Given the description of an element on the screen output the (x, y) to click on. 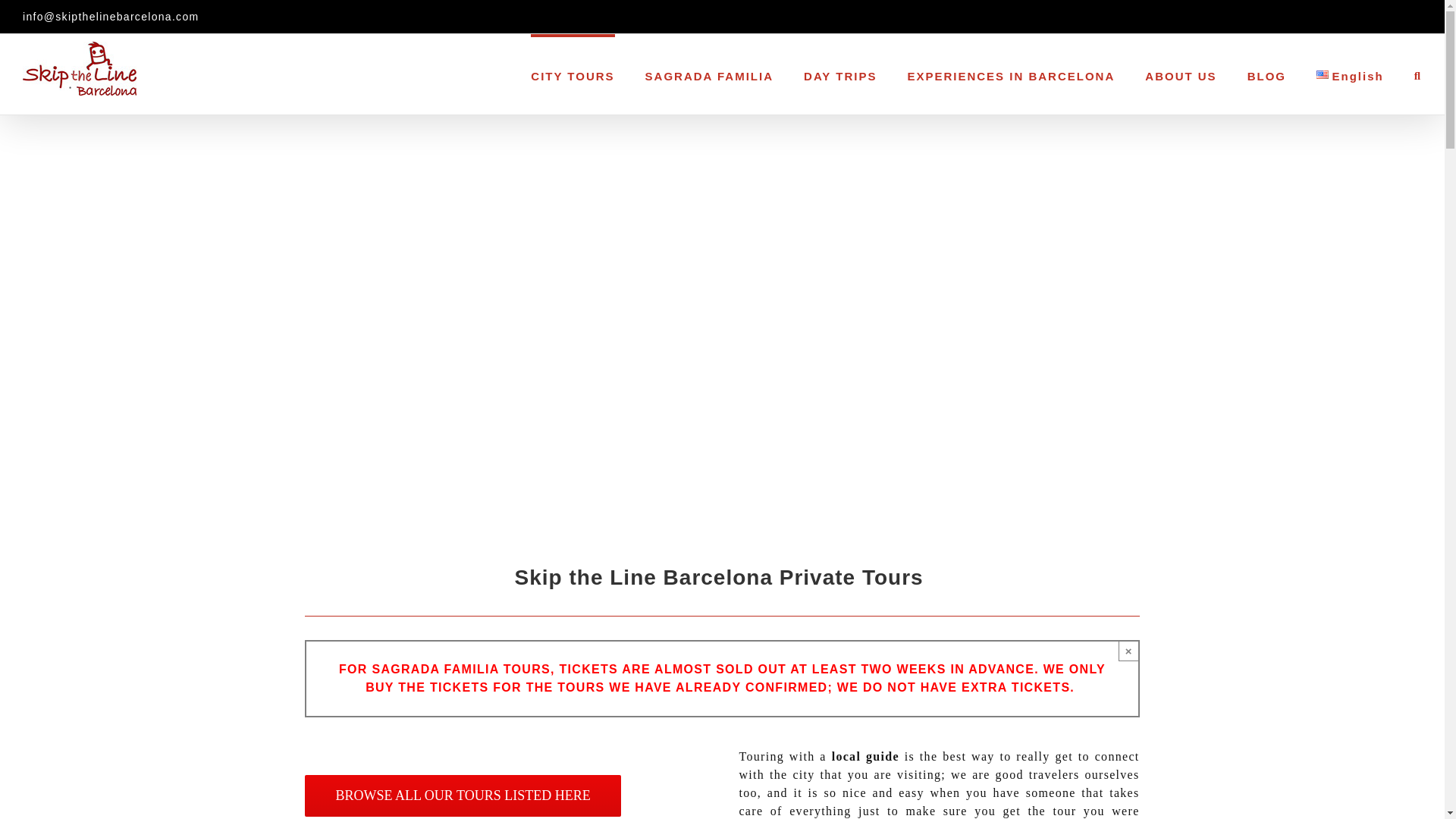
BROWSE ALL OUR TOURS LISTED HERE (462, 795)
private day trips from Barcelona (839, 74)
EXPERIENCES BARCELONA (1011, 74)
CITY TOURS (572, 74)
SAGRADA FAMILIA (709, 74)
barcelona private tours (572, 74)
EXPERIENCES IN BARCELONA (1011, 74)
DAY TRIPS (839, 74)
Best Sagrada familia private tour (709, 74)
